Given the description of an element on the screen output the (x, y) to click on. 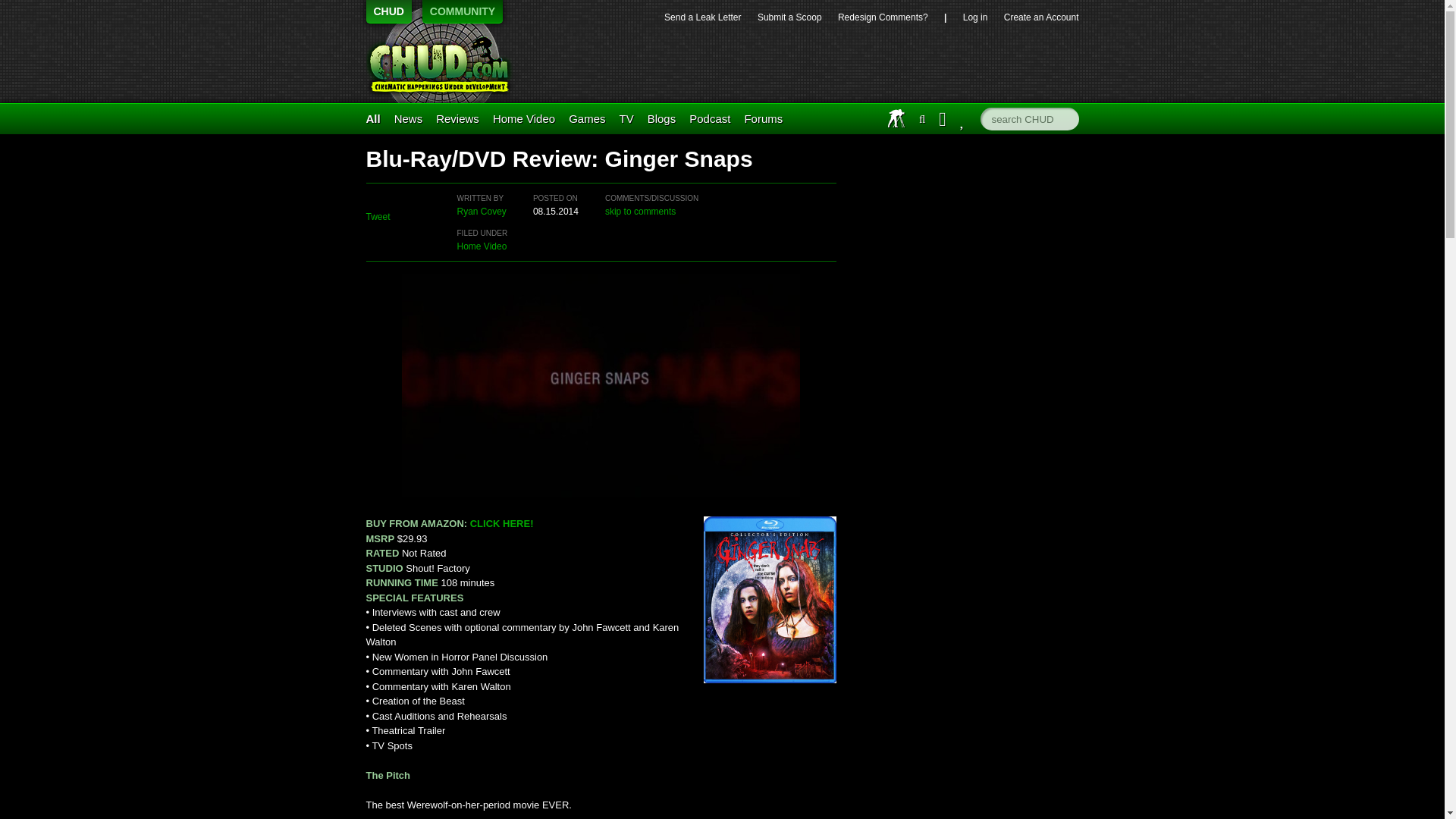
All (372, 118)
Blogs (662, 118)
TV (626, 118)
Ryan Covey (481, 211)
Redesign Comments? (883, 17)
Podcast (709, 118)
Games (587, 118)
Reviews (457, 118)
CHUD (445, 63)
News (408, 118)
